Given the description of an element on the screen output the (x, y) to click on. 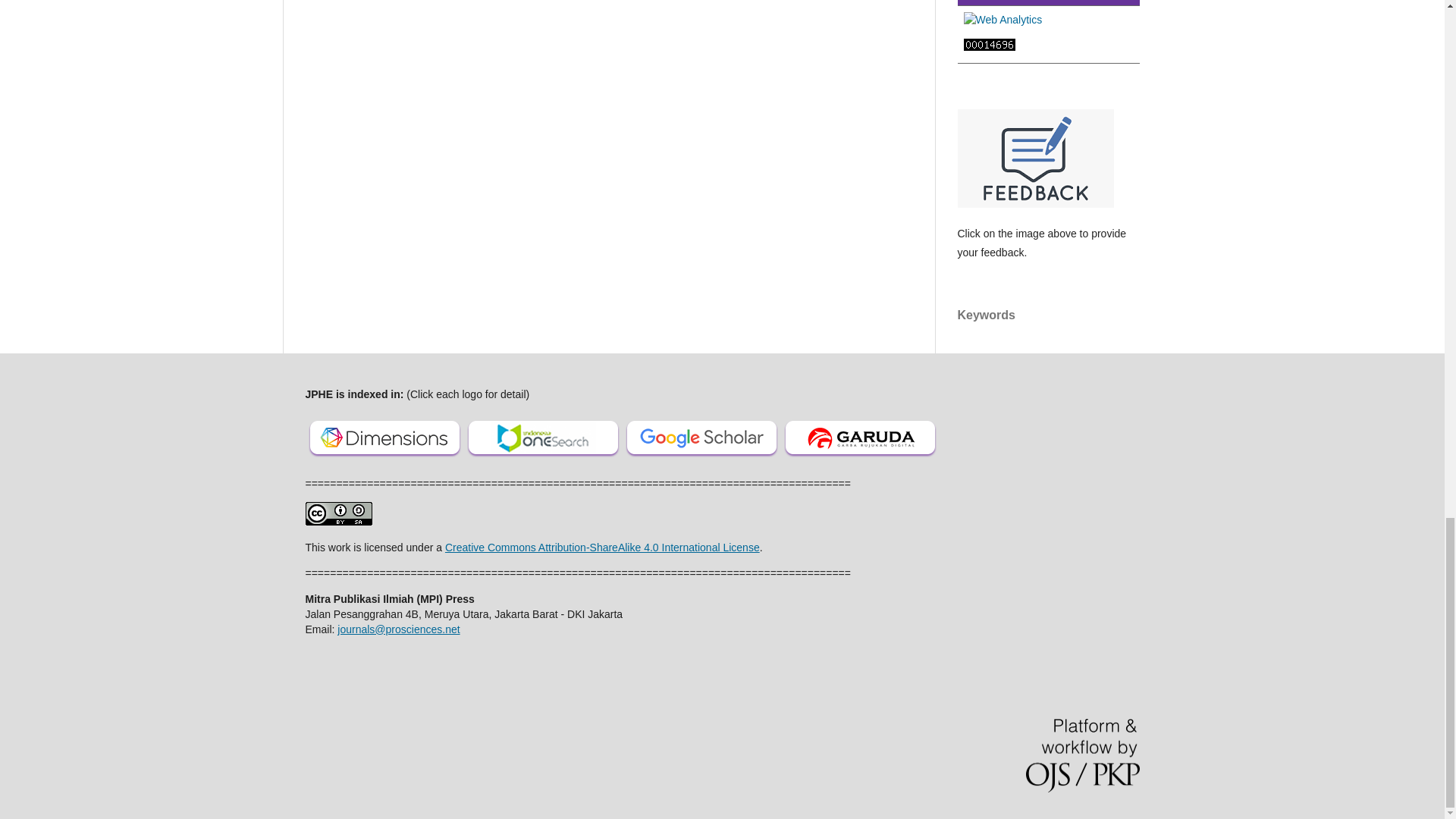
JPHE feedback (1034, 203)
Web Analytics Made Easy - Statcounter (988, 46)
Web Analytics (1002, 19)
google scholar (700, 458)
dimension (383, 458)
garuda (859, 458)
